Given the description of an element on the screen output the (x, y) to click on. 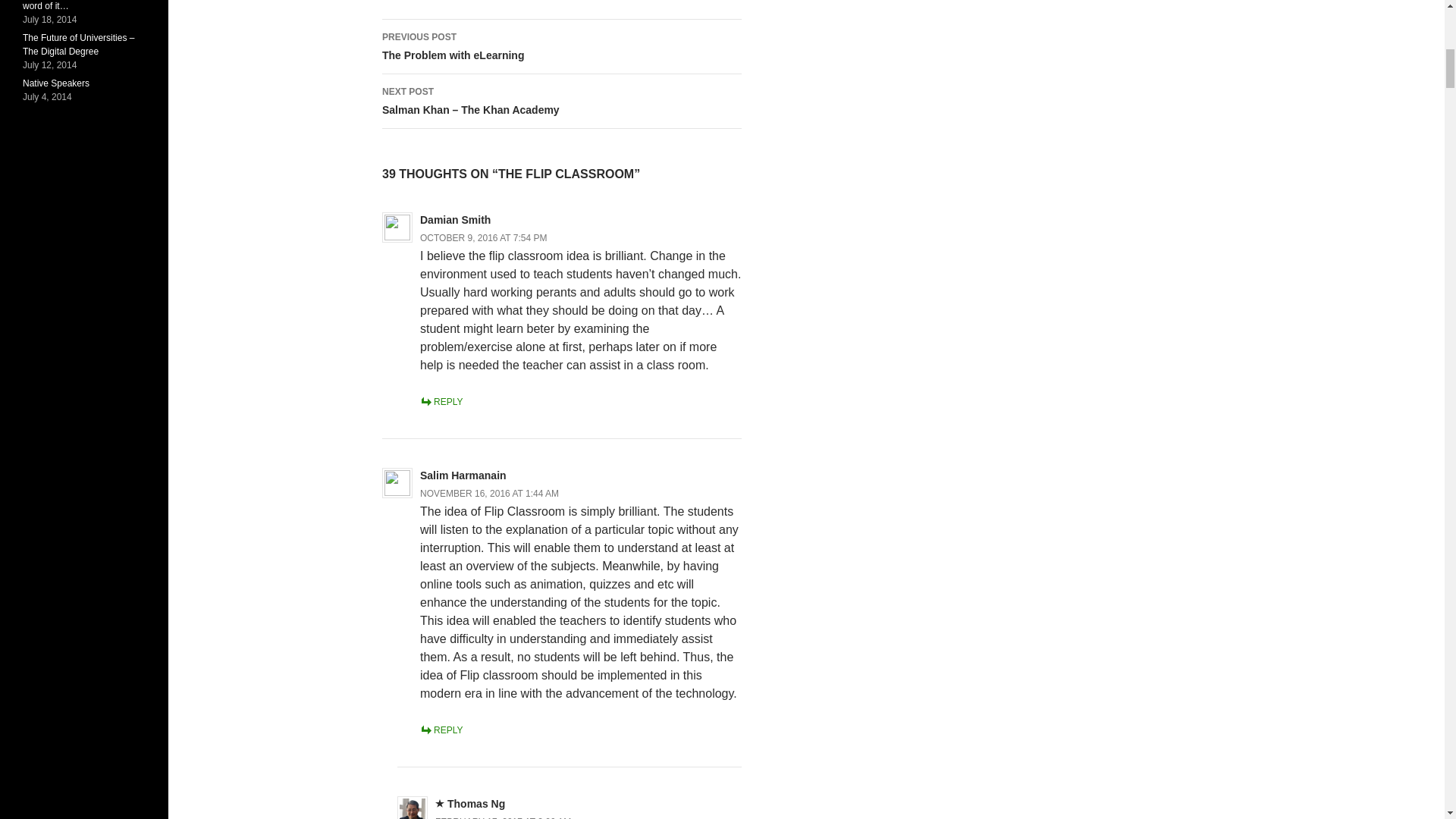
Thomas Ng (561, 46)
REPLY (475, 803)
FEBRUARY 17, 2017 AT 3:06 AM (441, 729)
NOVEMBER 16, 2016 AT 1:44 AM (502, 817)
OCTOBER 9, 2016 AT 7:54 PM (489, 493)
REPLY (483, 237)
